Given the description of an element on the screen output the (x, y) to click on. 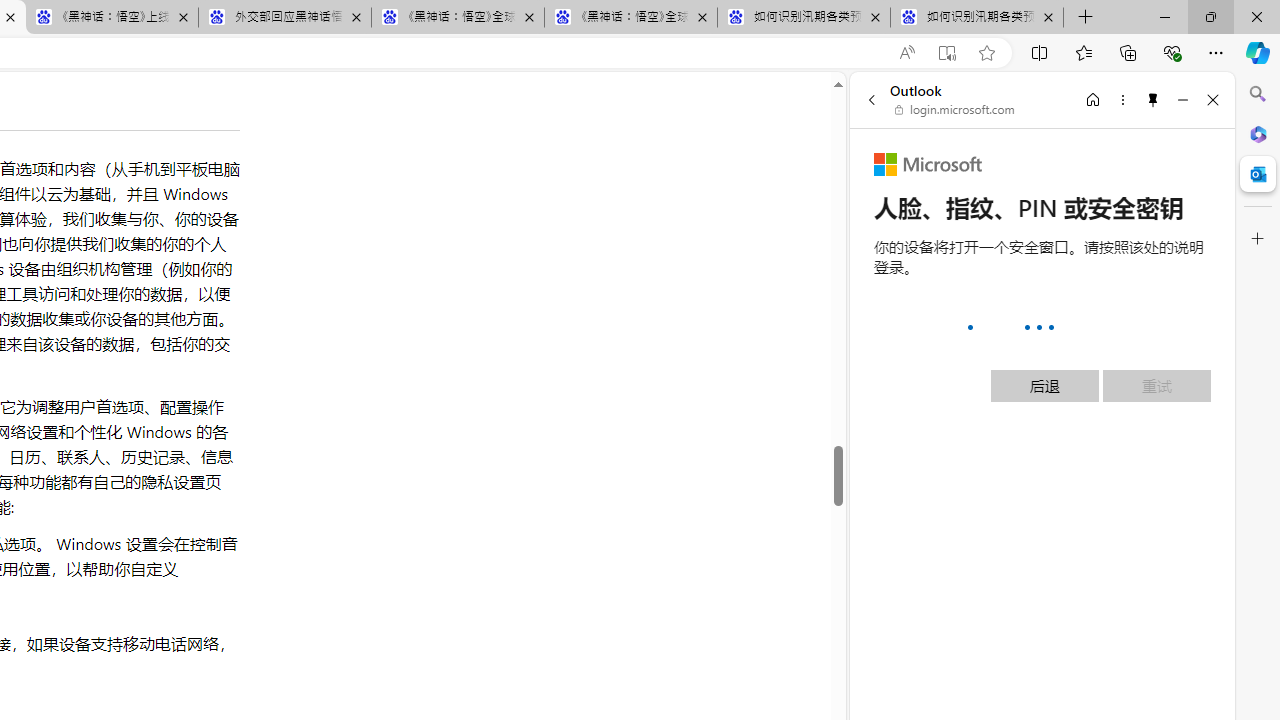
login.microsoft.com (955, 110)
